Given the description of an element on the screen output the (x, y) to click on. 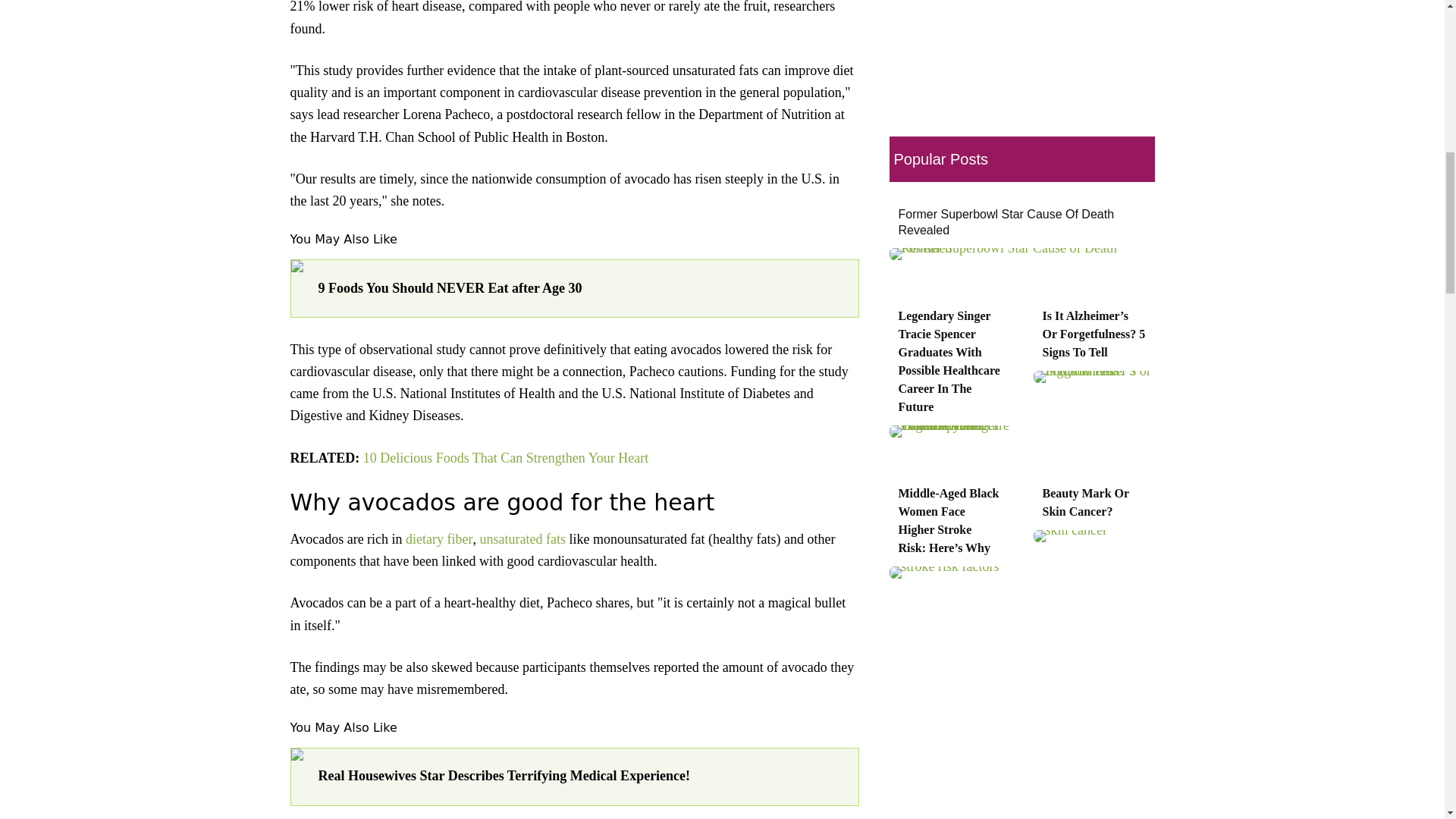
10 Delicious Foods That Can Strengthen Your Heart (505, 458)
dietary fiber (438, 539)
3rd party ad content (1017, 46)
9 Foods You Should NEVER Eat after Age 30 (580, 288)
unsaturated fats (523, 539)
3rd party ad content (1017, 759)
